Given the description of an element on the screen output the (x, y) to click on. 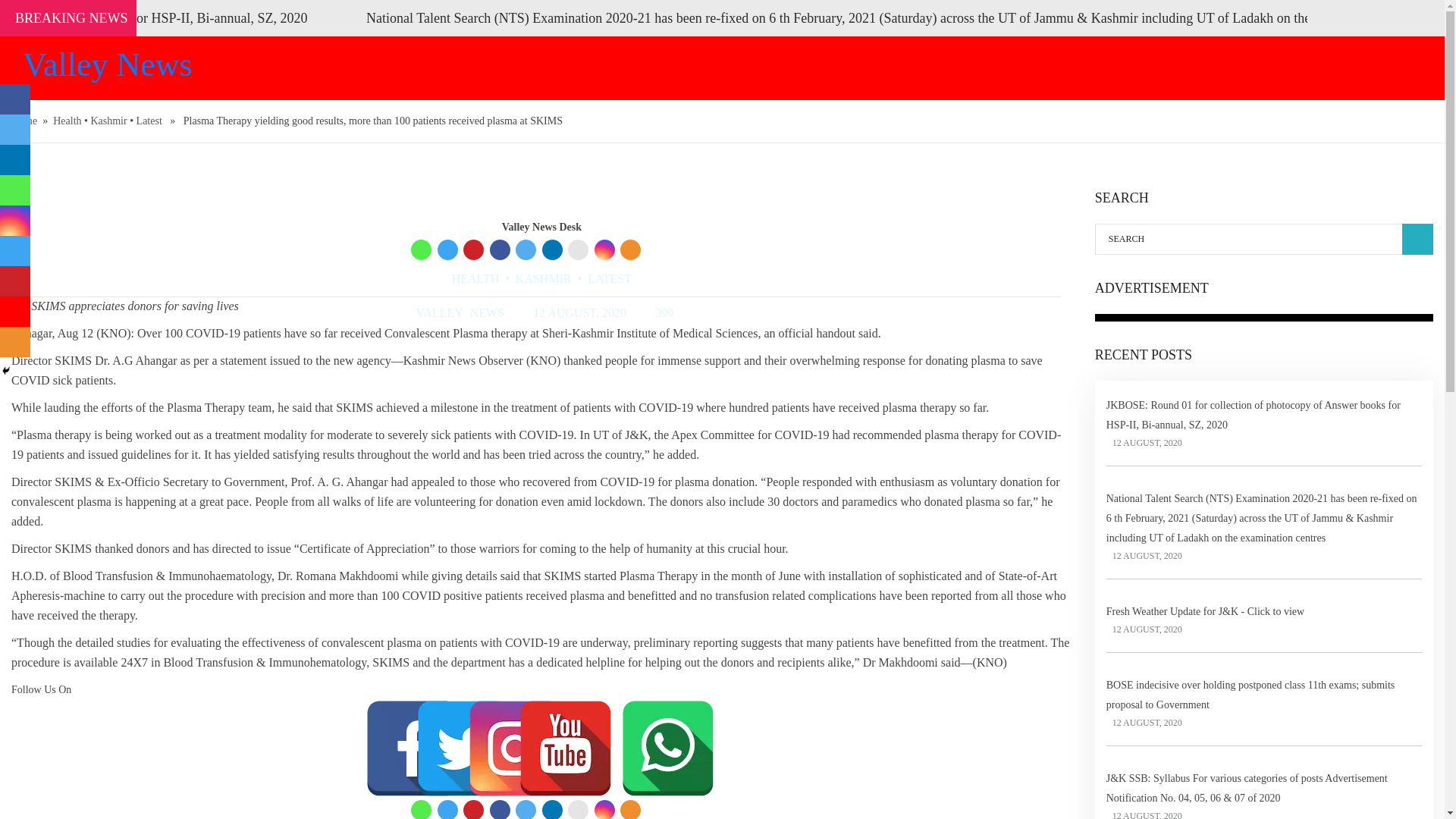
Latest (148, 121)
Facebook (500, 249)
KASHMIR (543, 278)
Telegram (448, 249)
Twitter (525, 809)
Pinterest (473, 809)
Facebook (500, 809)
Telegram (448, 809)
LATEST (609, 278)
Valley News (189, 65)
